Given the description of an element on the screen output the (x, y) to click on. 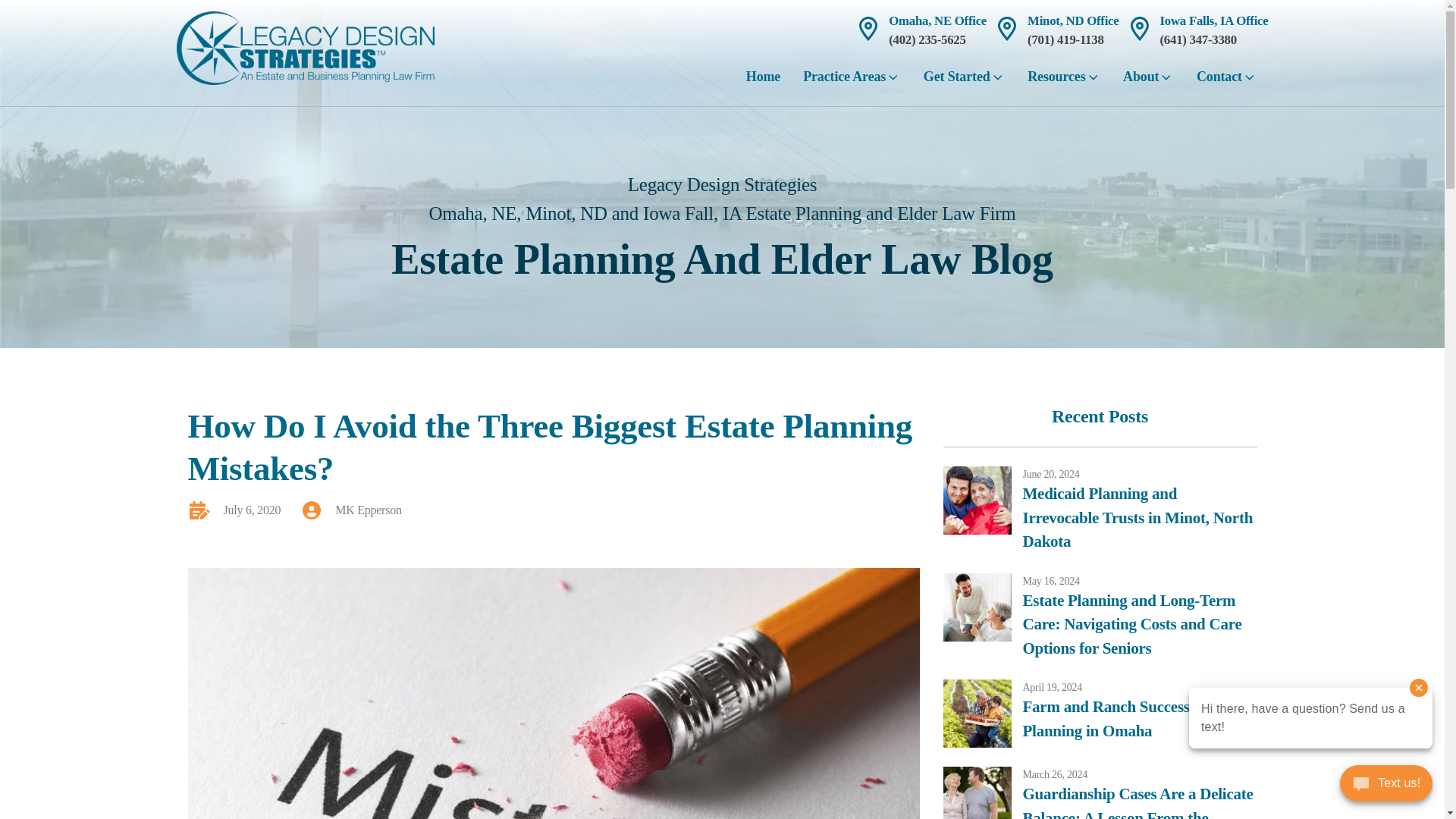
Farm and Ranch Succession Planning in Omaha (1139, 718)
Iowa Falls, IA Office (1214, 20)
Get Started (964, 82)
Minot, ND Office (1072, 20)
Resources (1064, 82)
About (1148, 82)
Practice Areas (852, 82)
Omaha, NE Office (937, 20)
Home (763, 82)
